Given the description of an element on the screen output the (x, y) to click on. 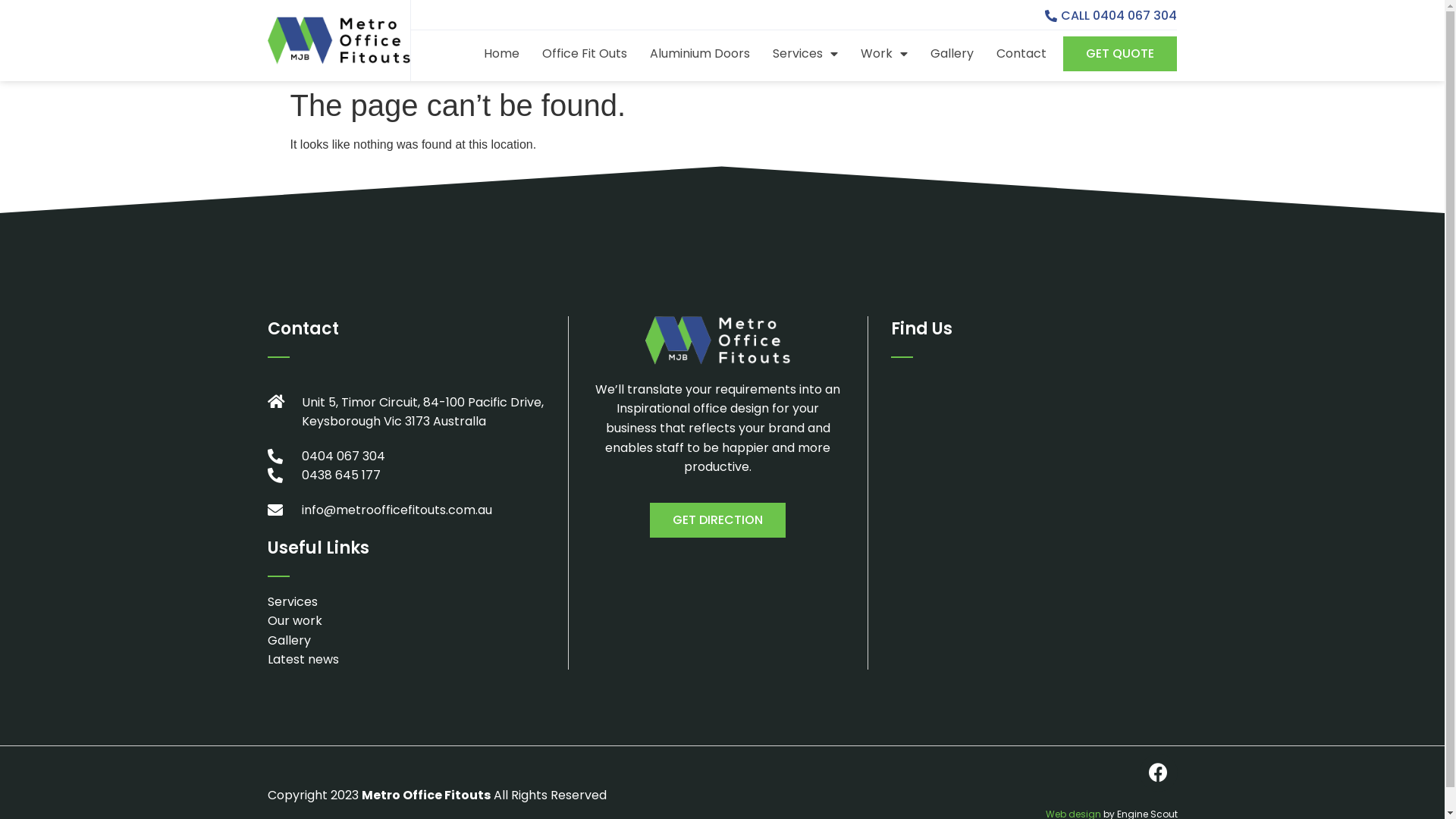
Gallery Element type: text (951, 53)
Work Element type: text (883, 53)
Gallery Element type: text (405, 640)
info@metroofficefitouts.com.au Element type: text (405, 510)
Latest news Element type: text (405, 659)
CALL 0404 067 304 Element type: text (1110, 15)
GET QUOTE Element type: text (1119, 53)
Aluminium Doors Element type: text (699, 53)
Home Element type: text (501, 53)
0438 645 177 Element type: text (405, 475)
Services Element type: text (804, 53)
Contact Element type: text (1021, 53)
Our work Element type: text (405, 620)
Office Fit Outs Element type: text (584, 53)
metro office fitouts Element type: hover (1030, 486)
0404 067 304 Element type: text (405, 456)
Services Element type: text (405, 601)
GET DIRECTION Element type: text (717, 519)
